Given the description of an element on the screen output the (x, y) to click on. 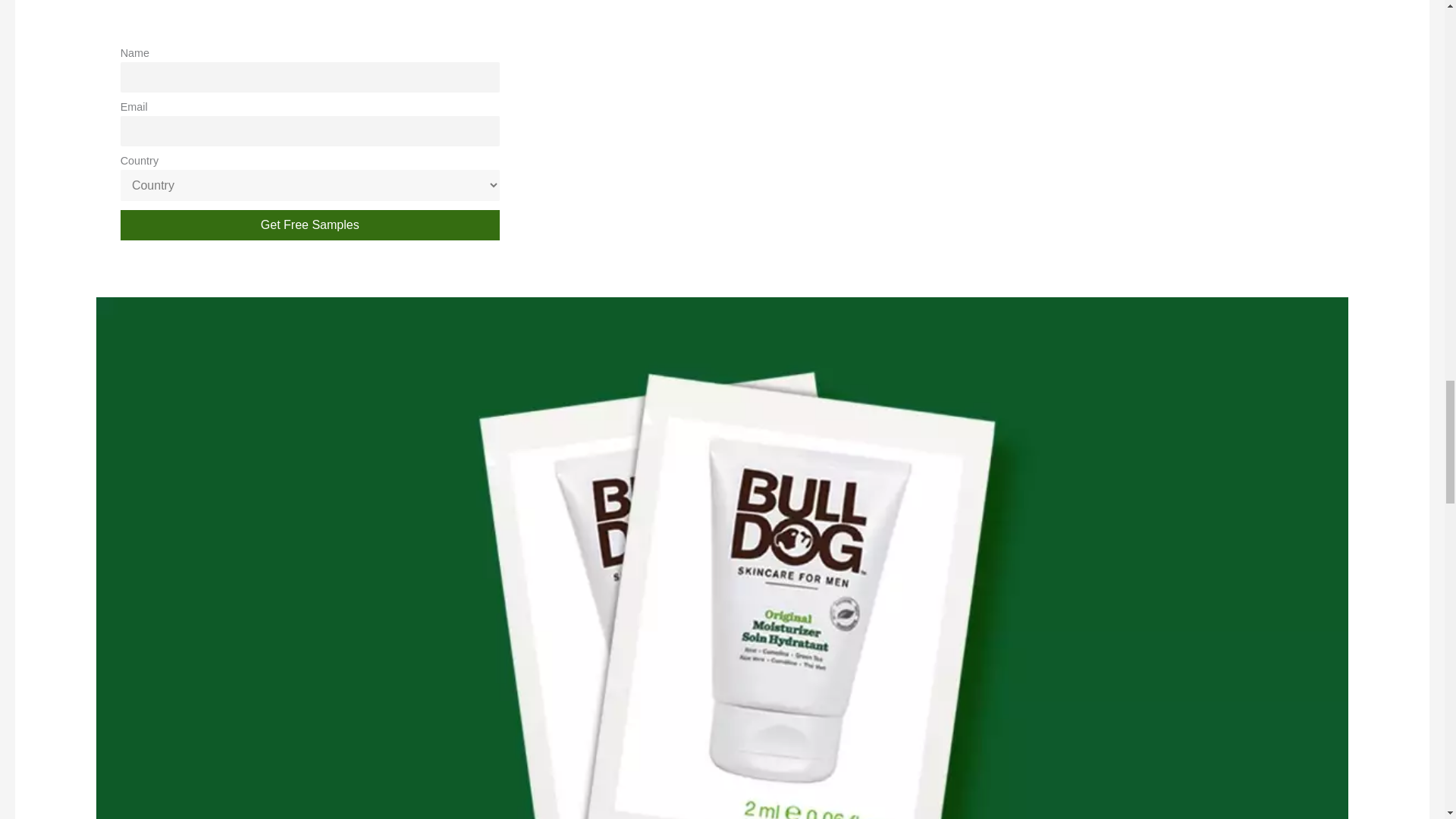
Get Free Samples (309, 224)
Get Free Samples (309, 224)
